Given the description of an element on the screen output the (x, y) to click on. 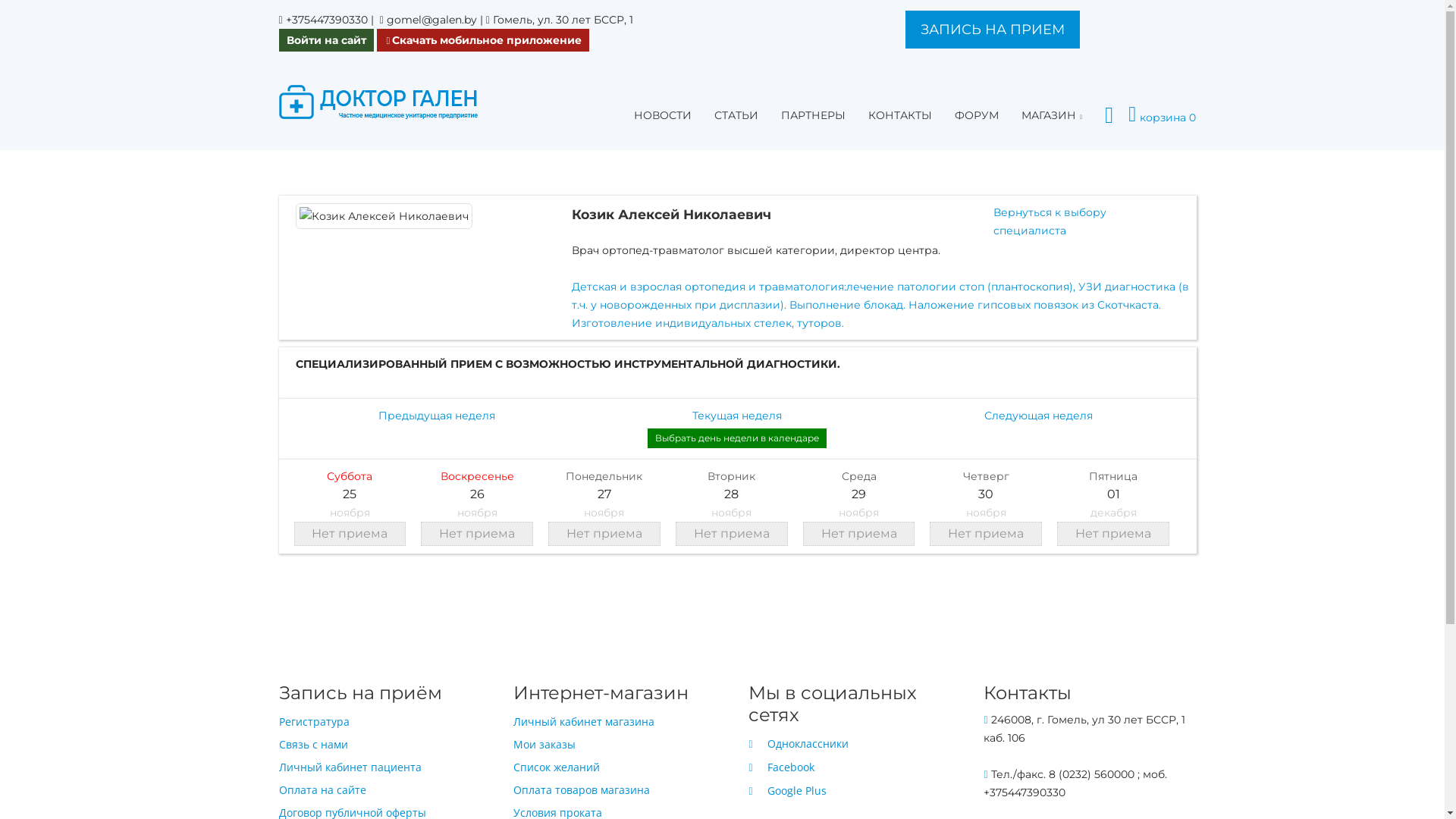
Facebook Element type: text (781, 767)
Google Plus Element type: text (787, 791)
gomel@galen.by Element type: text (431, 19)
